Given the description of an element on the screen output the (x, y) to click on. 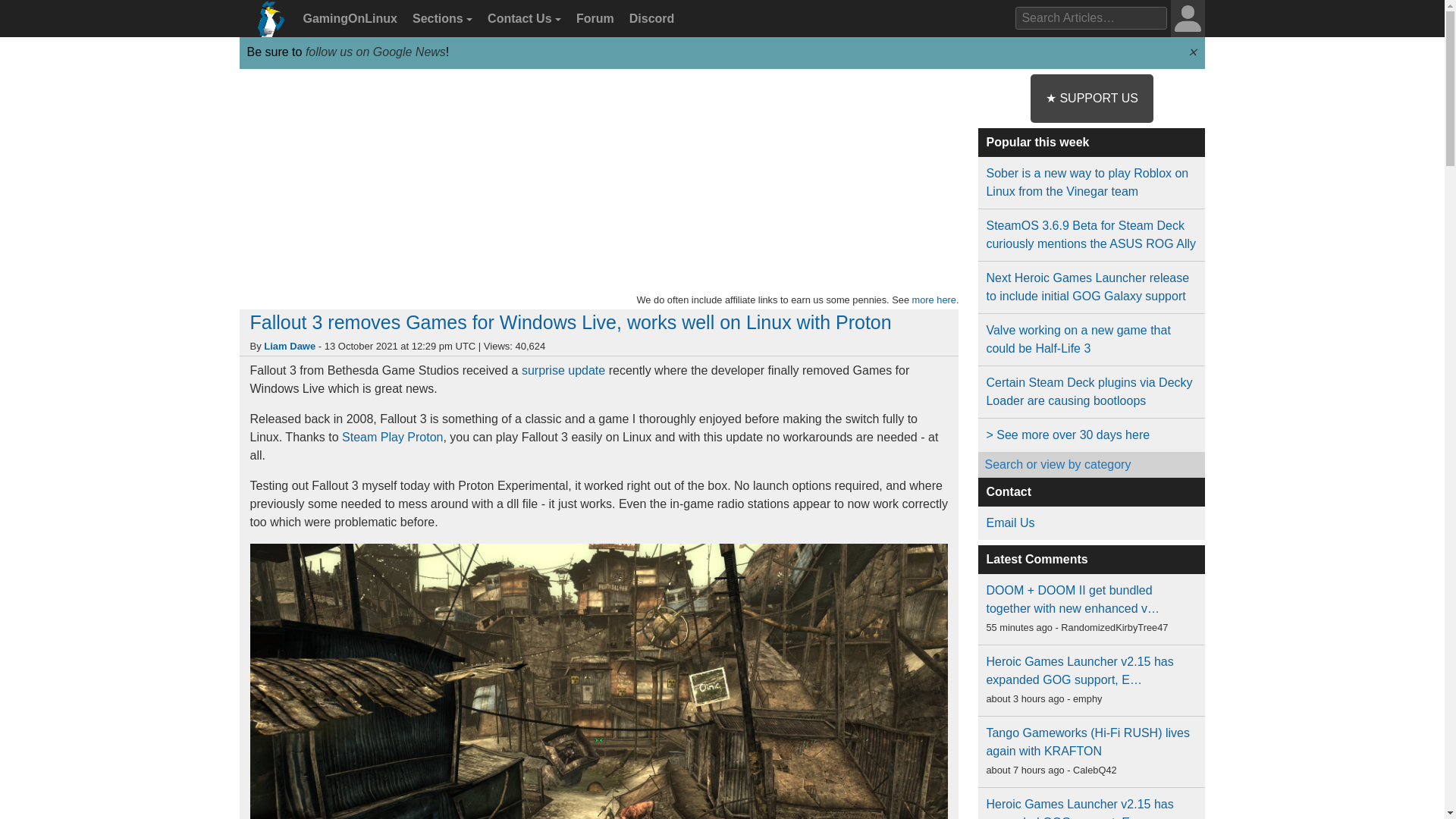
GamingOnLinux (348, 19)
Forum (593, 19)
Contact Us (522, 19)
Sections (440, 19)
GamingOnLinux Home (267, 23)
follow us on Google News (375, 51)
Discord (649, 19)
